Given the description of an element on the screen output the (x, y) to click on. 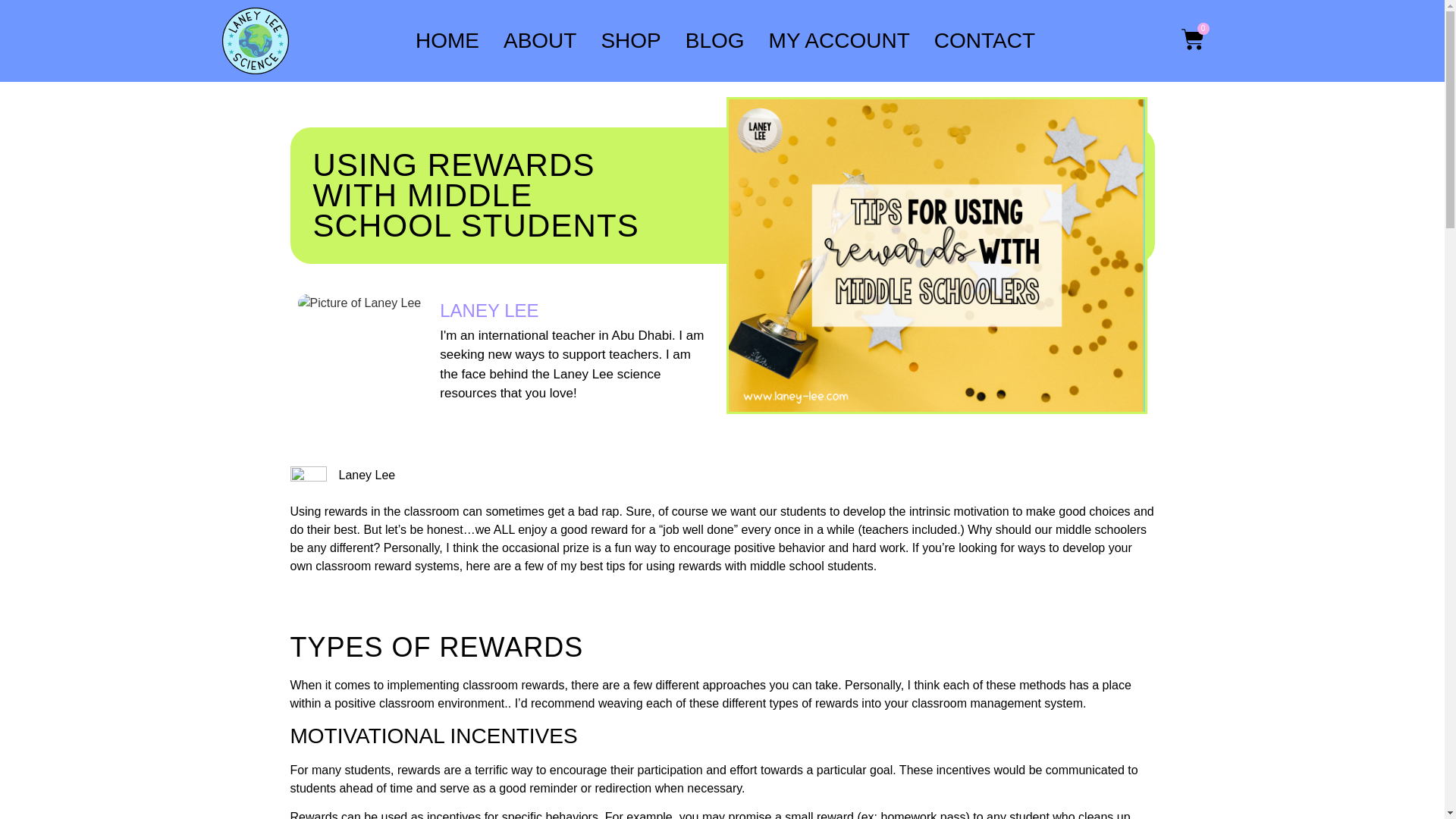
0 (1192, 41)
MY ACCOUNT (839, 40)
HOME (446, 40)
BLOG (714, 40)
CONTACT (984, 40)
ABOUT (539, 40)
SHOP (630, 40)
